Given the description of an element on the screen output the (x, y) to click on. 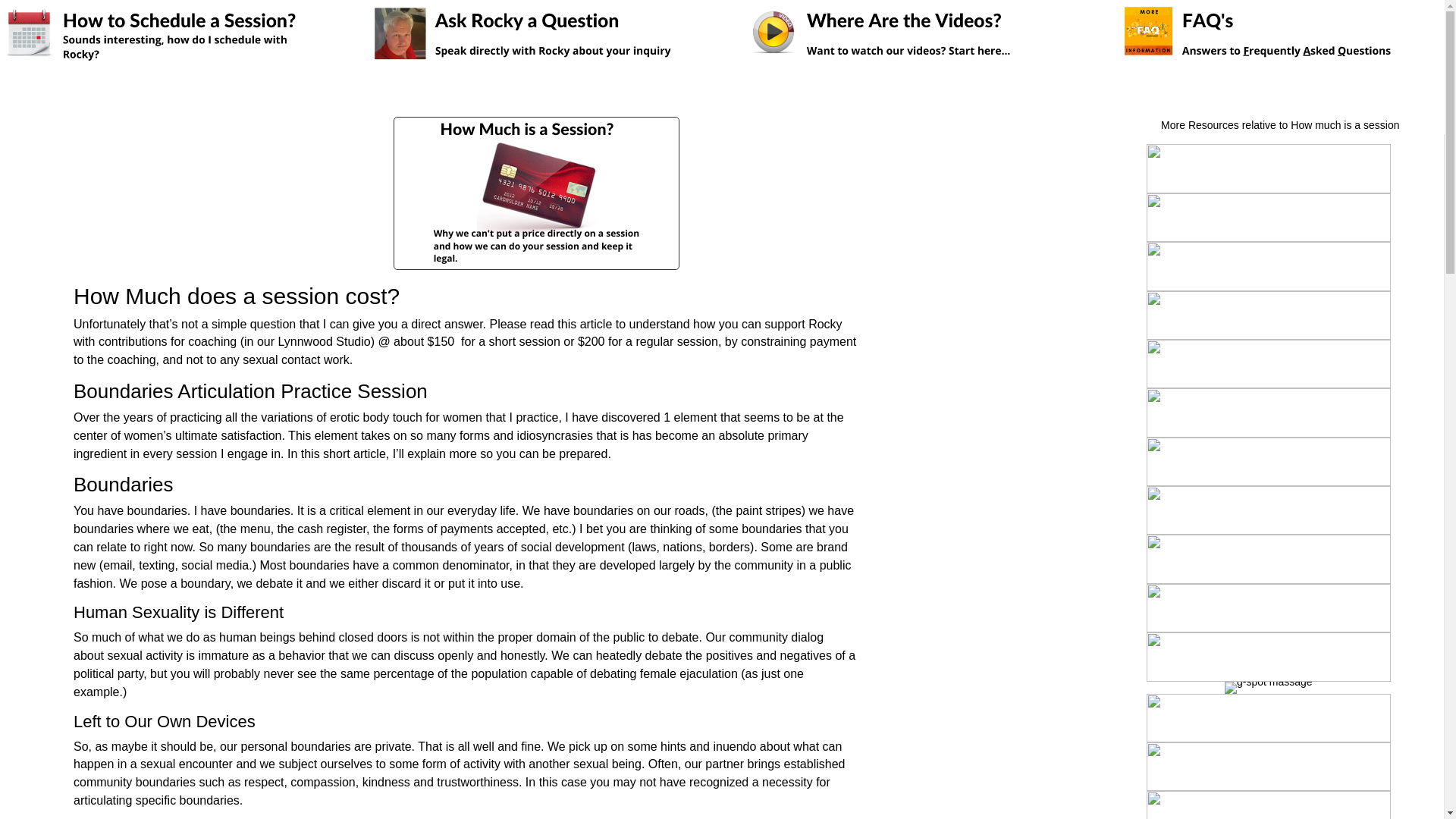
Erotic services for women (1268, 217)
Erotic services for women (1268, 412)
Erotic services for women (1268, 315)
Erotic services for women (1268, 168)
Erotic services for women (1268, 363)
Erotic services for women (1268, 461)
Erotic services for women (1268, 265)
Erotic services for women (1268, 510)
How much is a session FI (536, 193)
